Given the description of an element on the screen output the (x, y) to click on. 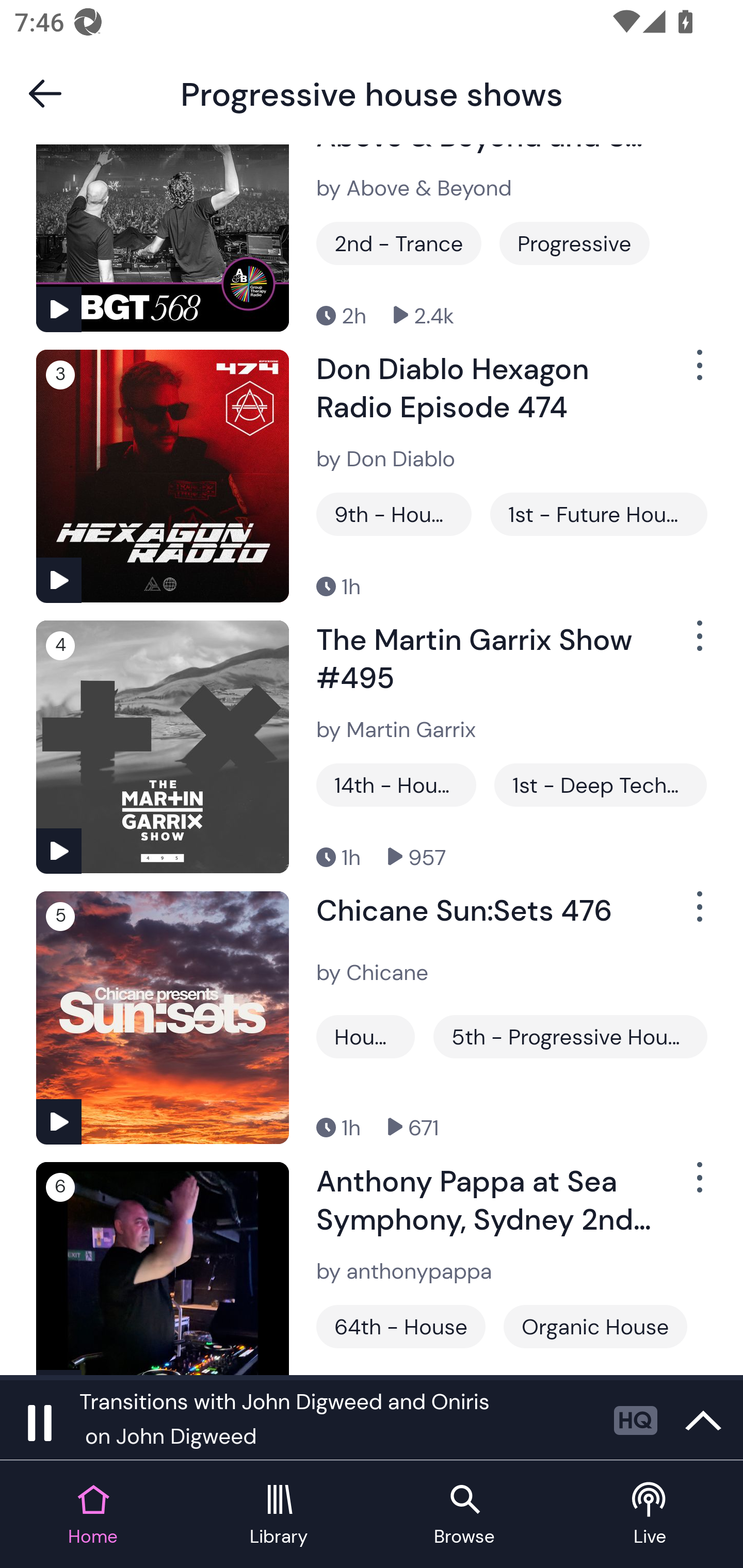
2nd - Trance (398, 242)
Progressive (574, 242)
Show Options Menu Button (697, 372)
9th - House (393, 514)
1st - Future House (598, 514)
Show Options Menu Button (697, 643)
14th - House (396, 784)
1st - Deep Techno (600, 784)
Show Options Menu Button (697, 913)
House (365, 1036)
5th - Progressive House (569, 1036)
Show Options Menu Button (697, 1184)
64th - House (400, 1326)
Organic House (595, 1326)
Home tab Home (92, 1515)
Library tab Library (278, 1515)
Browse tab Browse (464, 1515)
Live tab Live (650, 1515)
